Given the description of an element on the screen output the (x, y) to click on. 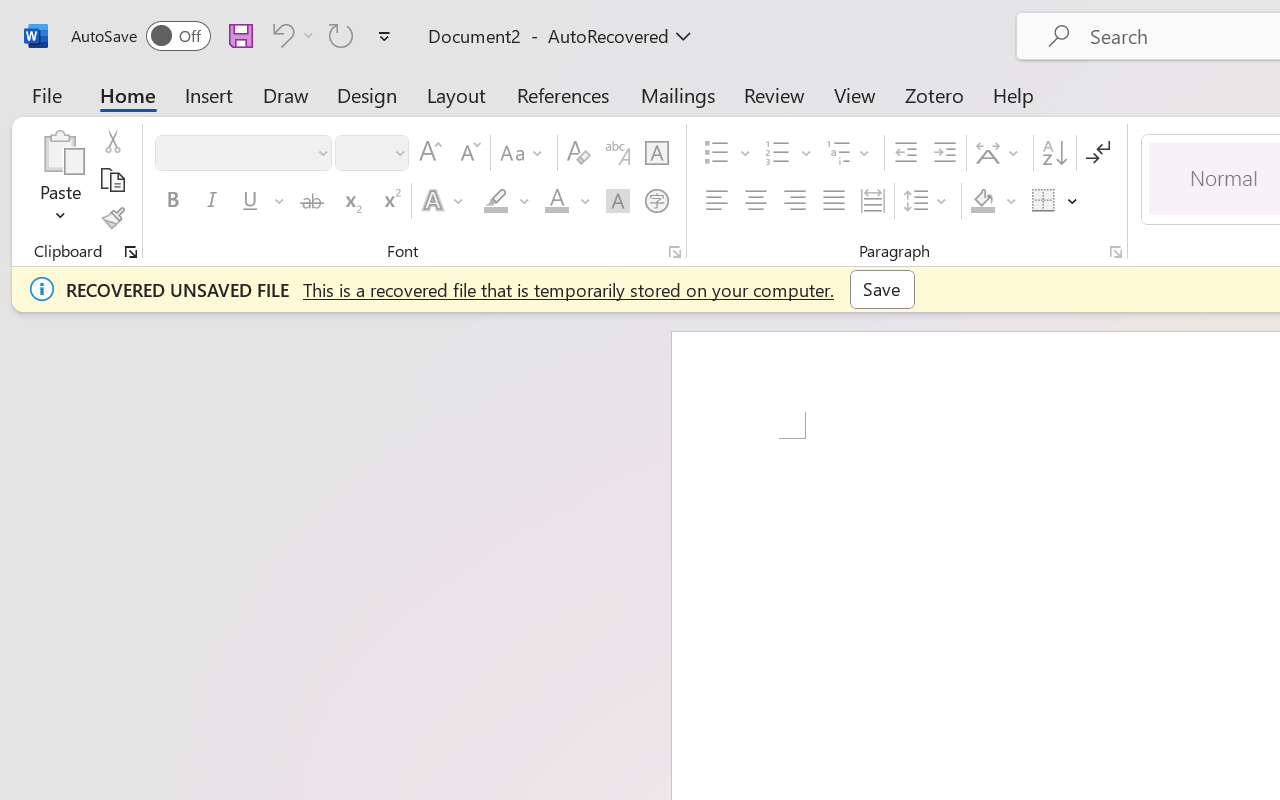
Phonetic Guide... (618, 153)
Shading RGB(0, 0, 0) (982, 201)
Asian Layout (1000, 153)
Align Right (794, 201)
Center (756, 201)
Shrink Font (468, 153)
Help (1013, 94)
